Given the description of an element on the screen output the (x, y) to click on. 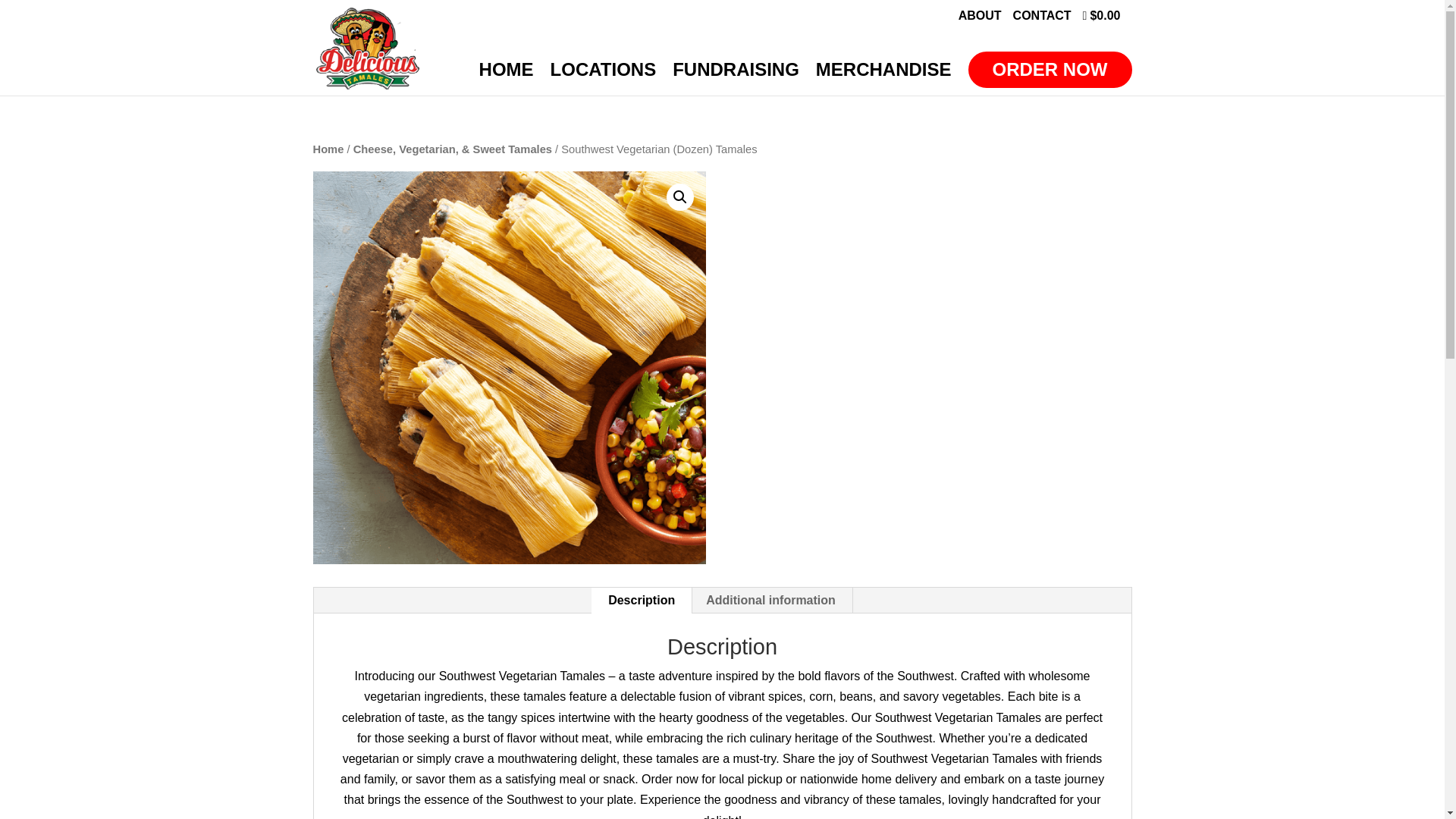
MERCHANDISE (883, 79)
ORDER NOW (1049, 69)
Start shopping (1102, 20)
Description (641, 600)
CONTACT (1042, 20)
FUNDRAISING (735, 79)
HOME (506, 79)
Additional information (769, 600)
ABOUT (979, 20)
Home (328, 149)
LOCATIONS (603, 79)
